Given the description of an element on the screen output the (x, y) to click on. 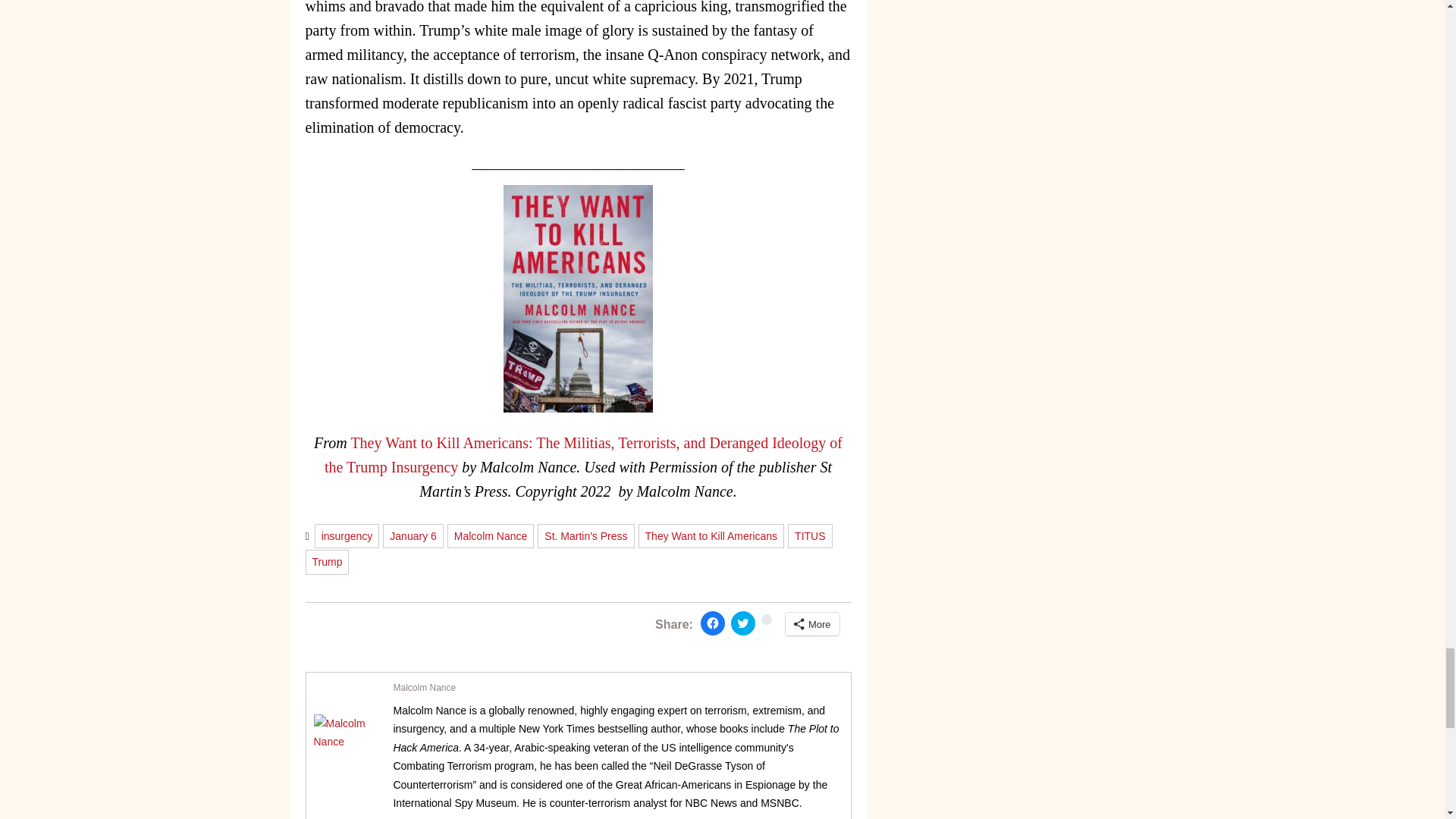
Click to share on Twitter (742, 622)
Share on Facebook (712, 622)
